Given the description of an element on the screen output the (x, y) to click on. 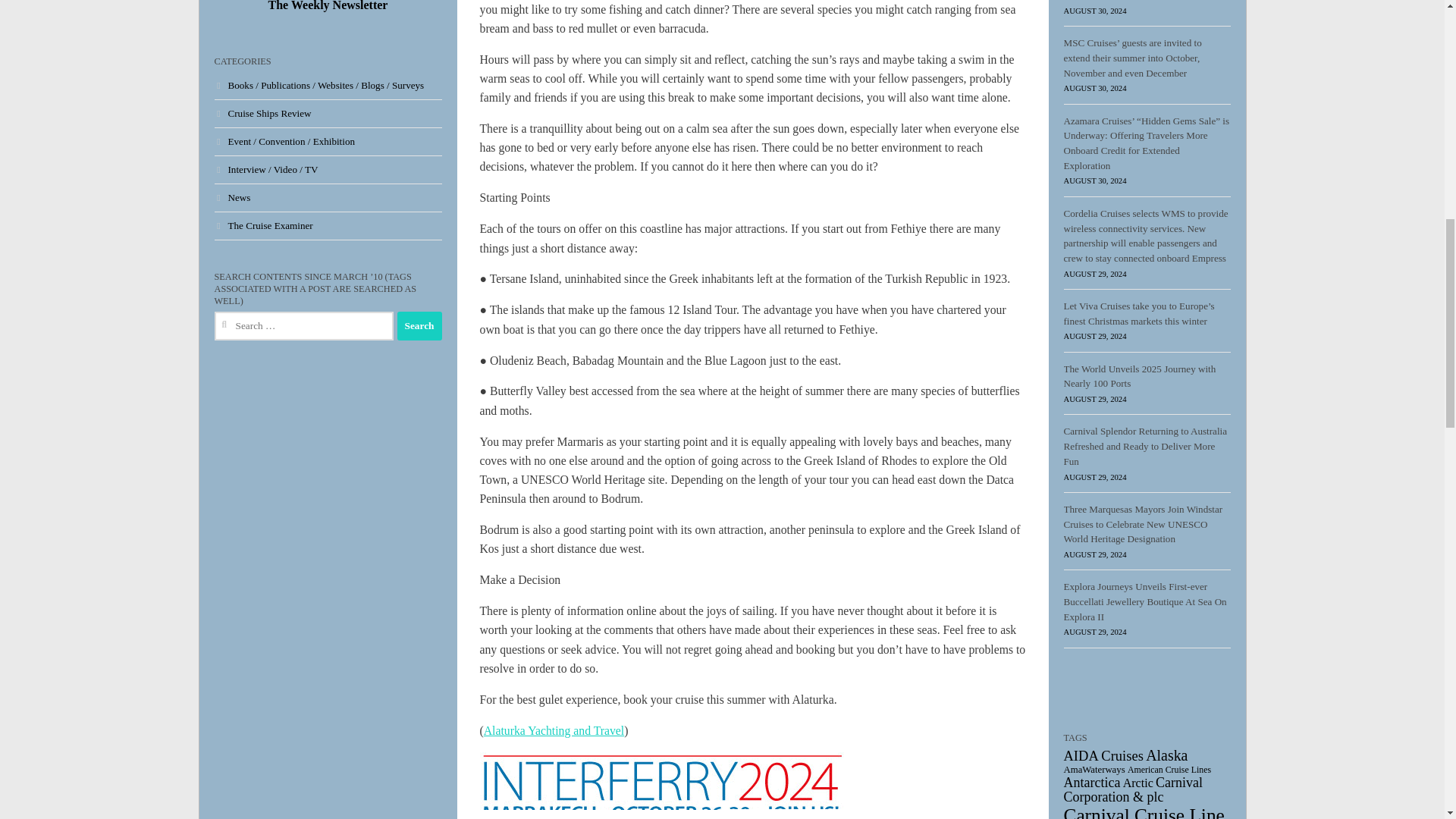
Search (419, 326)
Alaturka Yachting and Travel (553, 730)
News (232, 197)
Search (419, 326)
Search (419, 326)
Cruise Ships Review (262, 112)
The Cruise Examiner (263, 225)
